Given the description of an element on the screen output the (x, y) to click on. 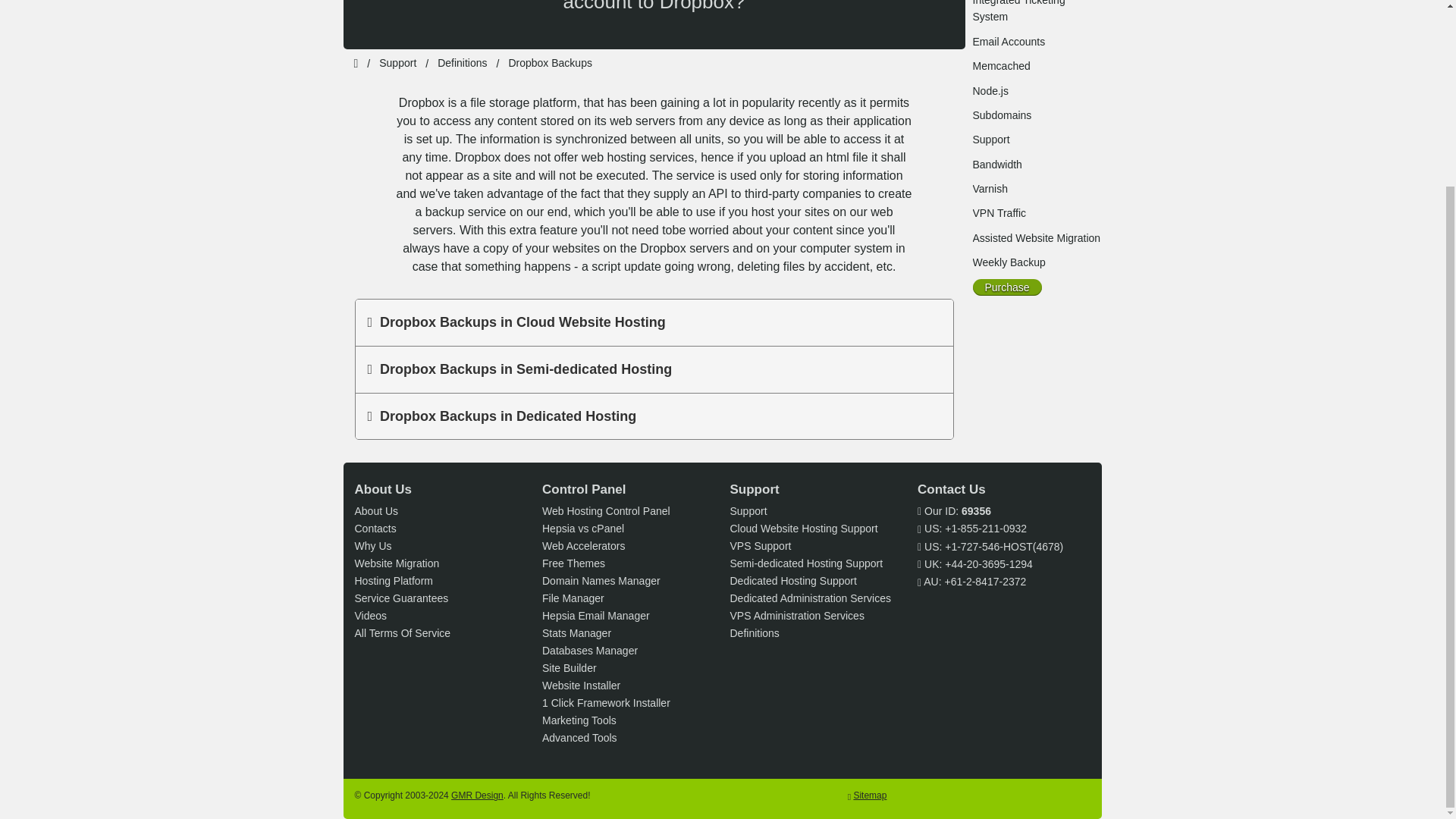
Assisted Website Migration (1036, 237)
Node.js (989, 91)
Weekly Backup (1008, 262)
Purchase (1006, 287)
Integrated Ticketing System (1018, 11)
Support (397, 62)
Support (990, 139)
Subdomains (1001, 114)
Varnish (989, 188)
VPN Traffic (999, 213)
Memcached (1000, 65)
Email Accounts (1008, 41)
Bandwidth (997, 164)
